Given the description of an element on the screen output the (x, y) to click on. 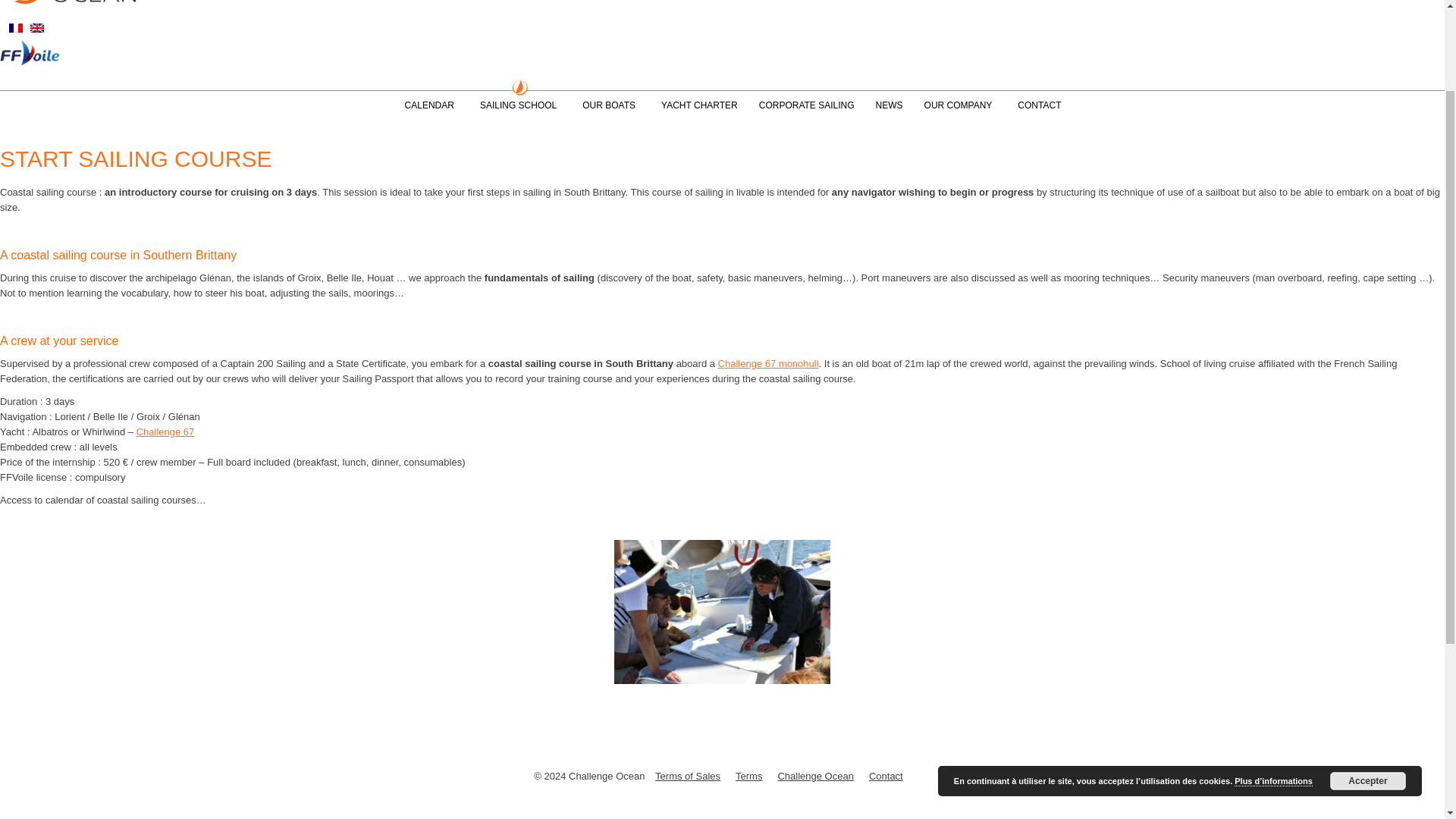
CHALLENGE OCEAN (69, 4)
OUR COMPANY (960, 105)
SAILING SCHOOL (520, 105)
OUR BOATS (611, 105)
YACHT CHARTER (699, 105)
CALENDAR (431, 105)
NEWS (889, 105)
CONTACT (1039, 105)
Challenge 67 (165, 431)
CORPORATE SAILING (806, 105)
Challenge 67 monohull (767, 363)
